Given the description of an element on the screen output the (x, y) to click on. 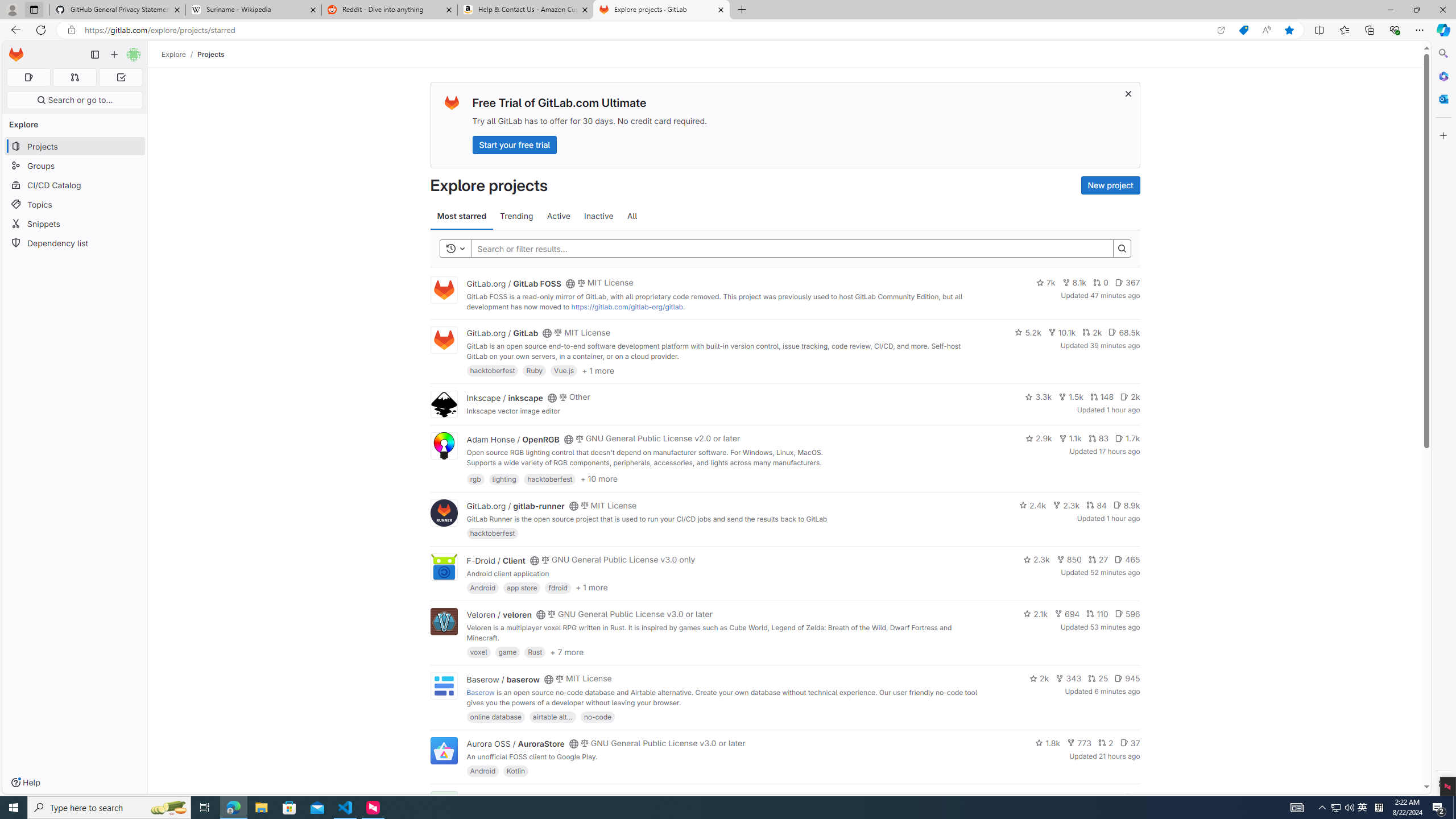
+ 1 more (591, 587)
Assigned issues 0 (28, 76)
Projects (211, 53)
Snippets (74, 223)
CI/CD Catalog (74, 185)
Dismiss trial promotion (1128, 93)
New project (1110, 185)
68.5k (1124, 331)
Primary navigation sidebar (94, 54)
3.3k (1038, 396)
Start your free trial (514, 144)
